Given the description of an element on the screen output the (x, y) to click on. 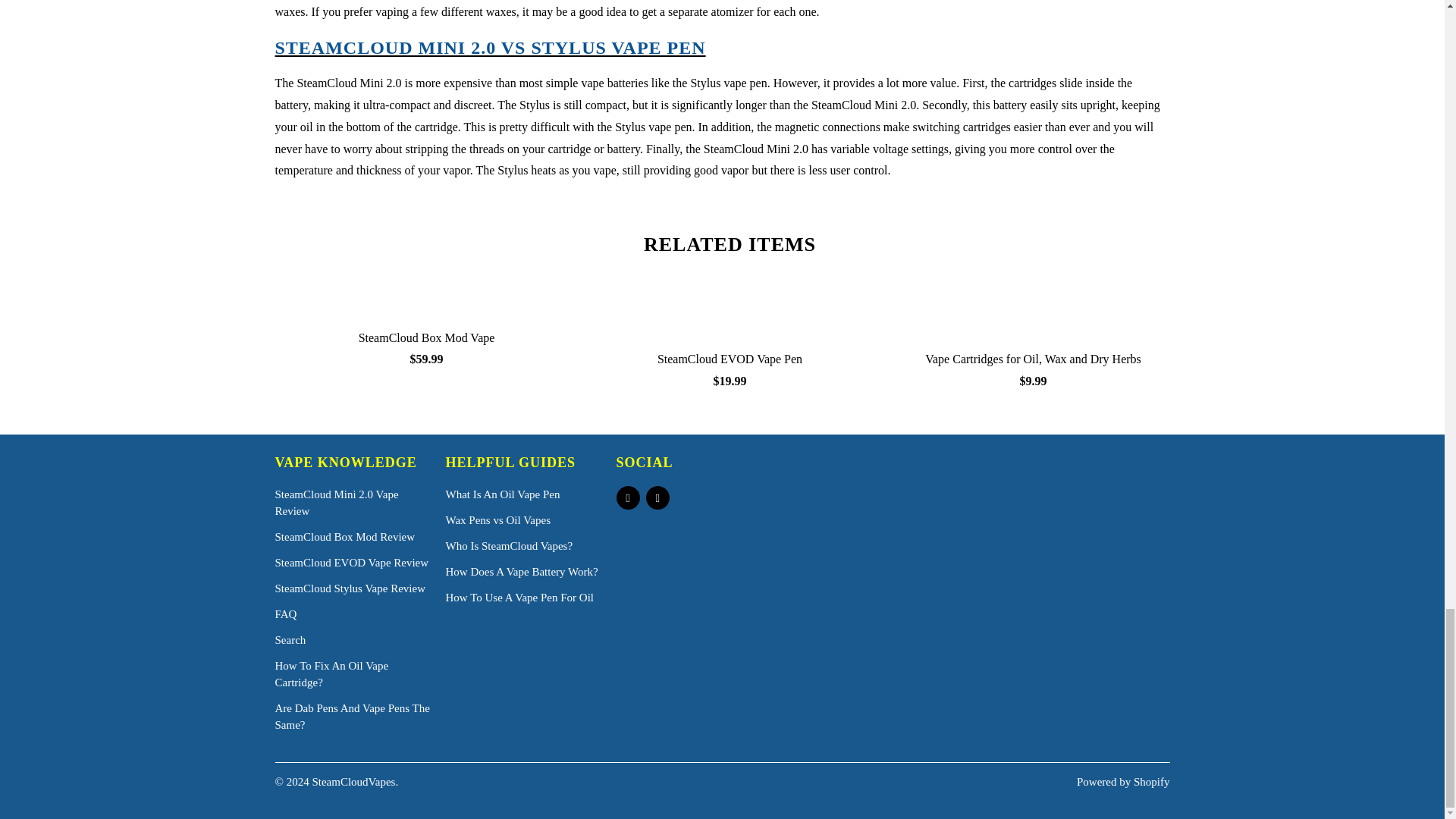
How Does A Vape Battery Work? (521, 571)
Who Is SteamCloud Vapes? (509, 545)
Email SteamCloudVapes (657, 497)
Are Dab Pens And Vape Pens The Same? (352, 716)
SteamCloud Stylus Vape Review (350, 588)
SteamCloudVapes on Facebook (627, 497)
How To Fix An Oil Vape Cartridge? (331, 674)
SteamCloud Mini 2.0 Vape Review (336, 502)
SteamCloud Box Mod Review (344, 536)
SteamCloud EVOD Vape Review (351, 562)
